Given the description of an element on the screen output the (x, y) to click on. 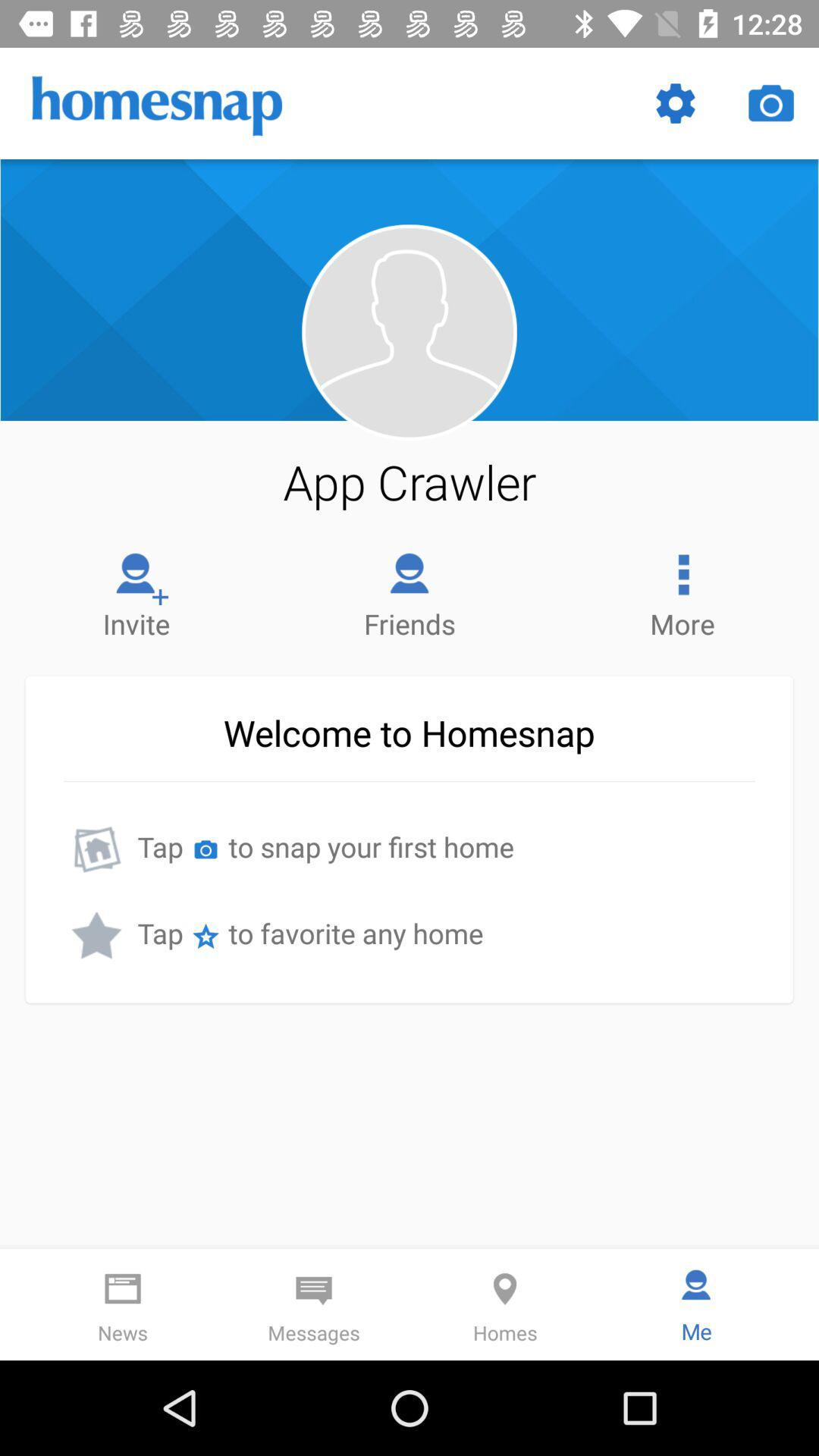
tap the item next to the more (409, 591)
